Given the description of an element on the screen output the (x, y) to click on. 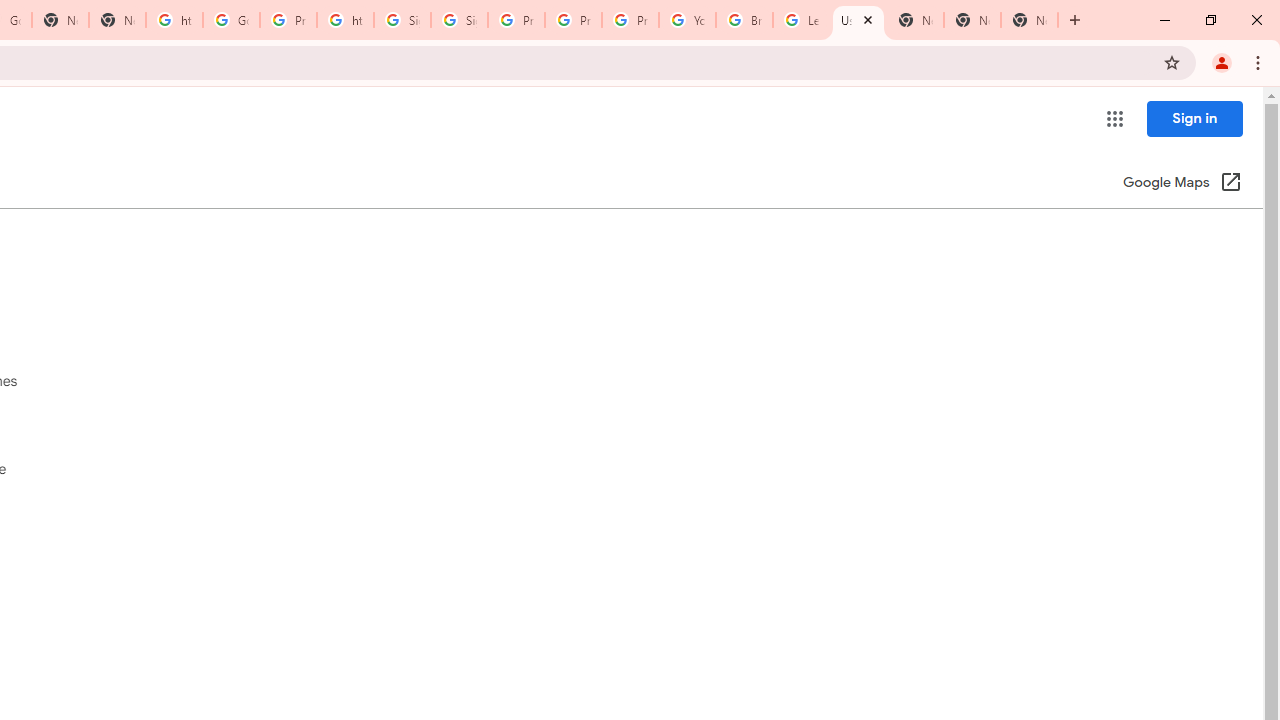
New Tab (1029, 20)
Privacy Help Center - Policies Help (516, 20)
https://scholar.google.com/ (174, 20)
YouTube (687, 20)
